Given the description of an element on the screen output the (x, y) to click on. 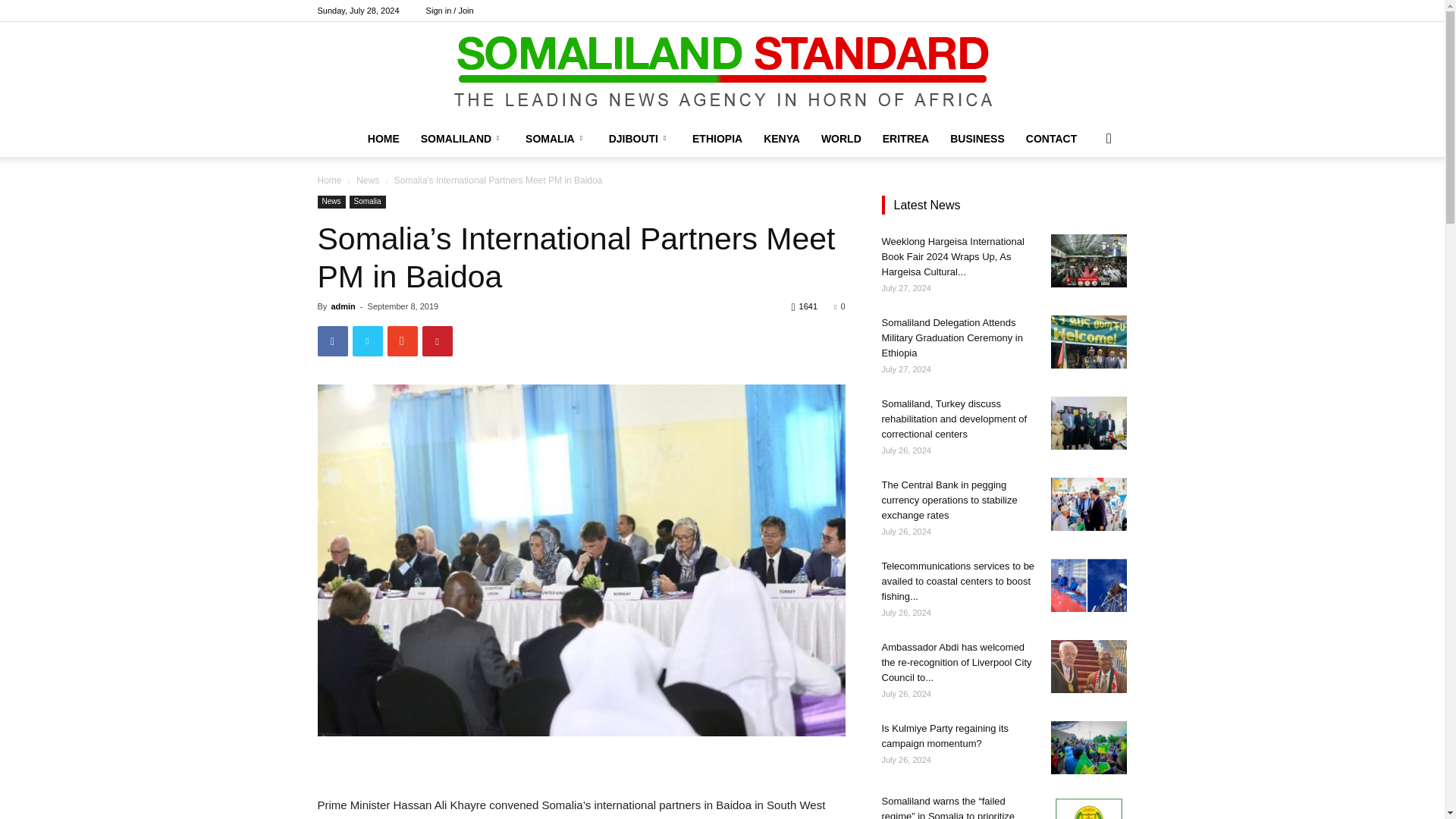
Facebook (1040, 10)
Youtube (1114, 10)
SOMALILAND (462, 138)
Twitter (1090, 10)
HOME (383, 138)
